Given the description of an element on the screen output the (x, y) to click on. 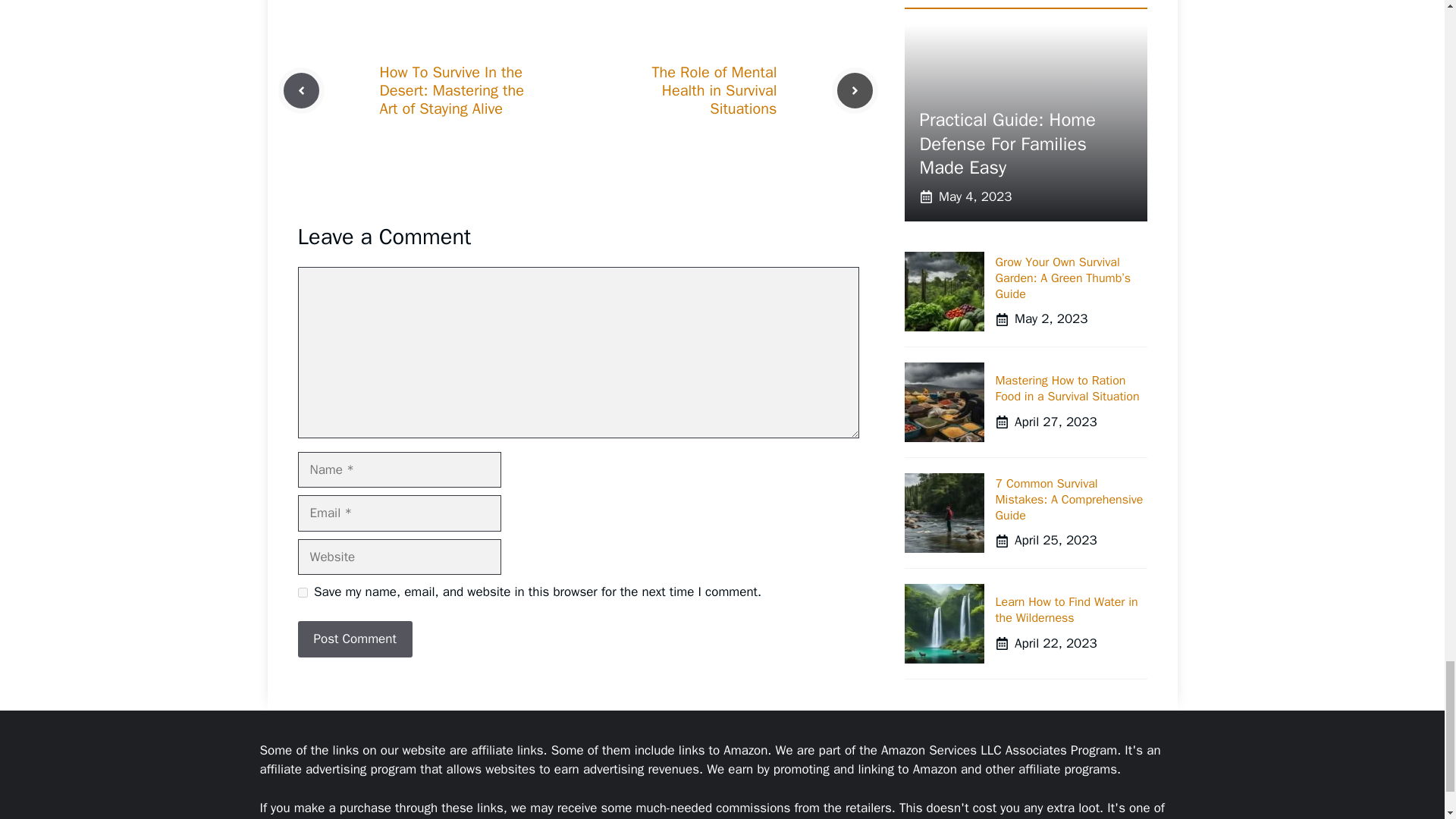
Post Comment (354, 638)
yes (302, 592)
The Role of Mental Health in Survival Situations (714, 90)
Post Comment (354, 638)
